Given the description of an element on the screen output the (x, y) to click on. 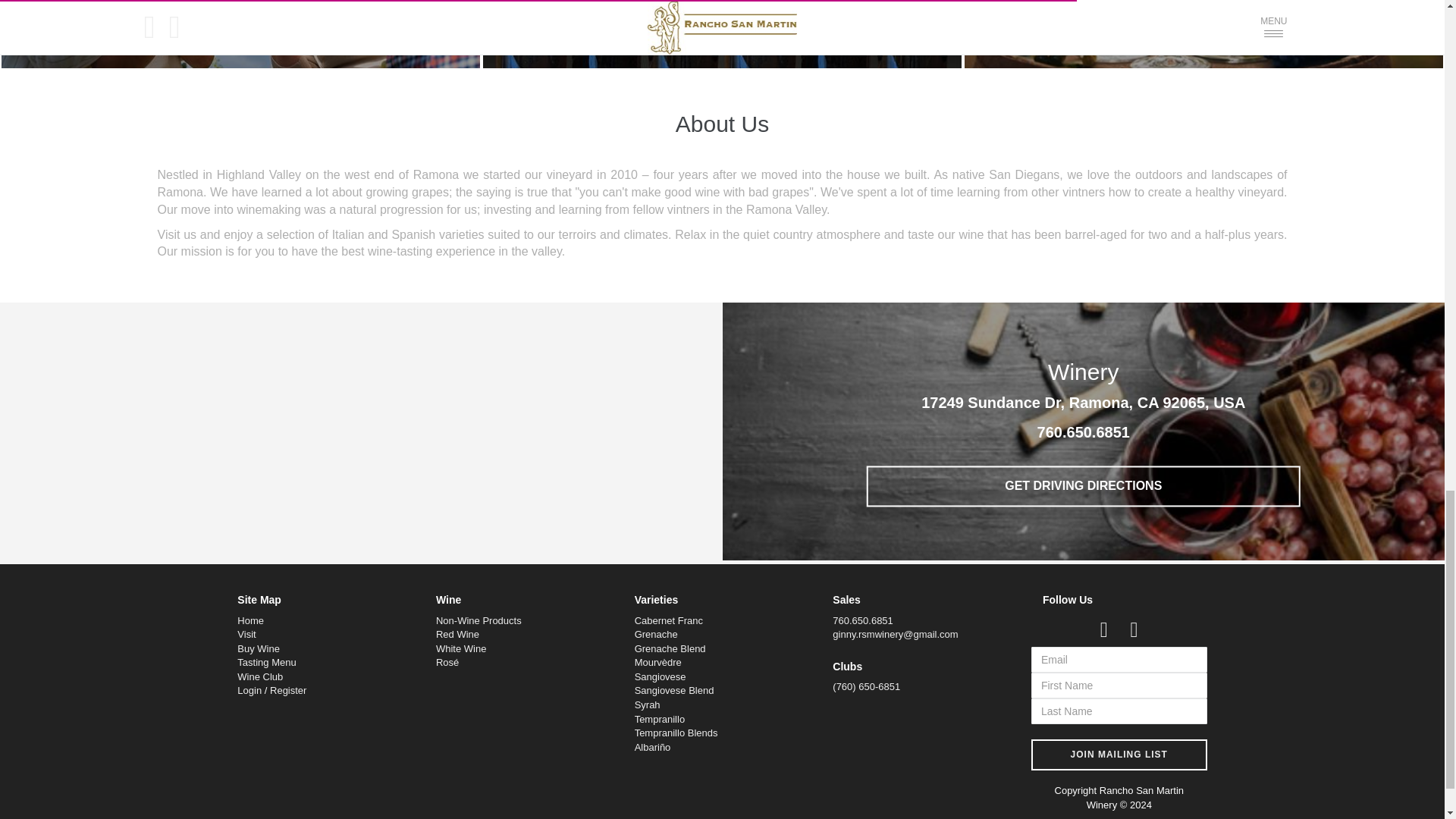
760.650.6851 (1082, 432)
Visit (246, 633)
Grenache (656, 633)
Syrah (647, 704)
Buy Wine (258, 648)
Wine Club (259, 676)
Grenache Blend (670, 648)
Tasting Menu (266, 662)
Cabernet Franc (668, 620)
Tempranillo Blends (675, 732)
